Given the description of an element on the screen output the (x, y) to click on. 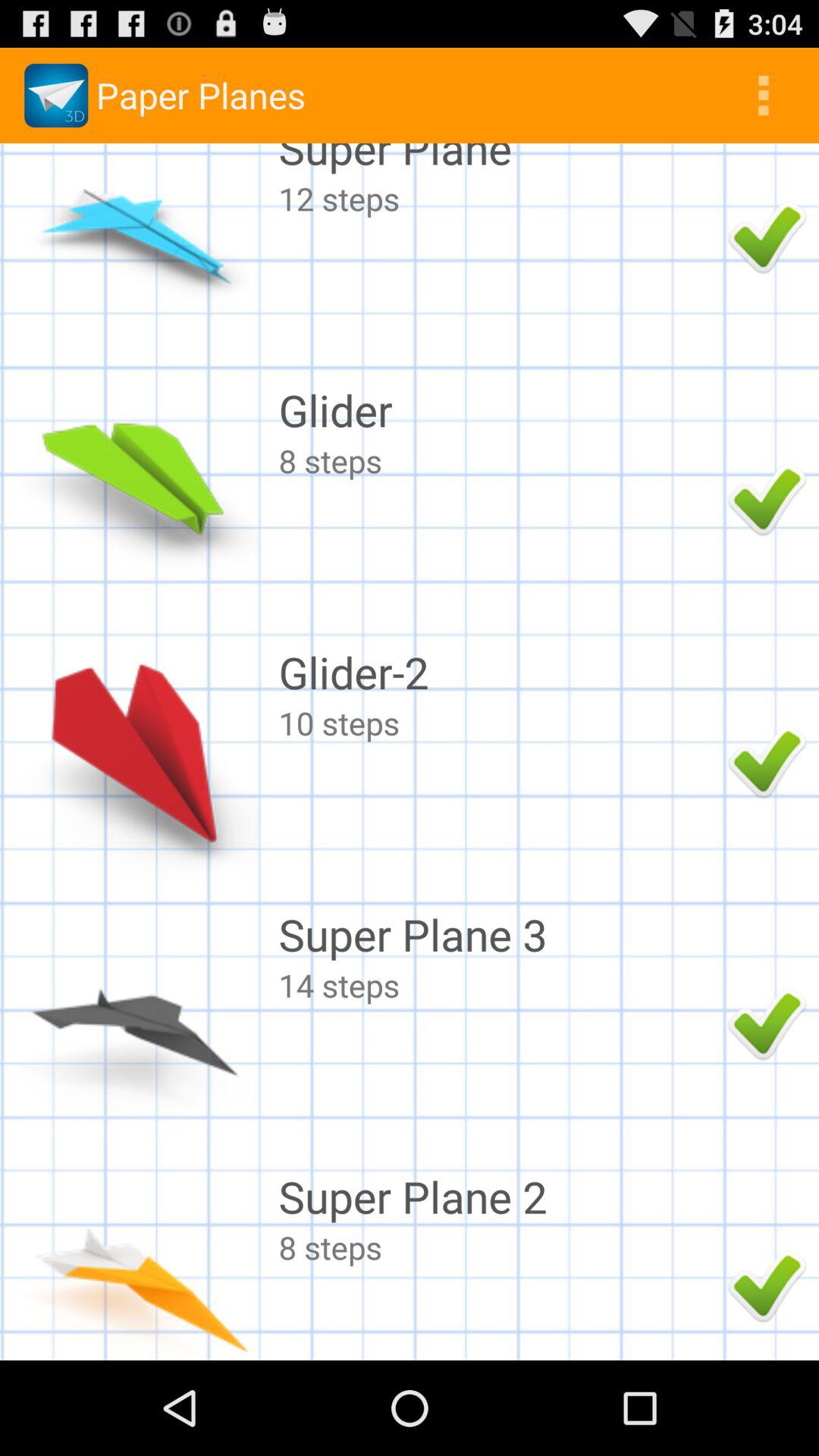
open the icon below the glider-2 icon (498, 722)
